Given the description of an element on the screen output the (x, y) to click on. 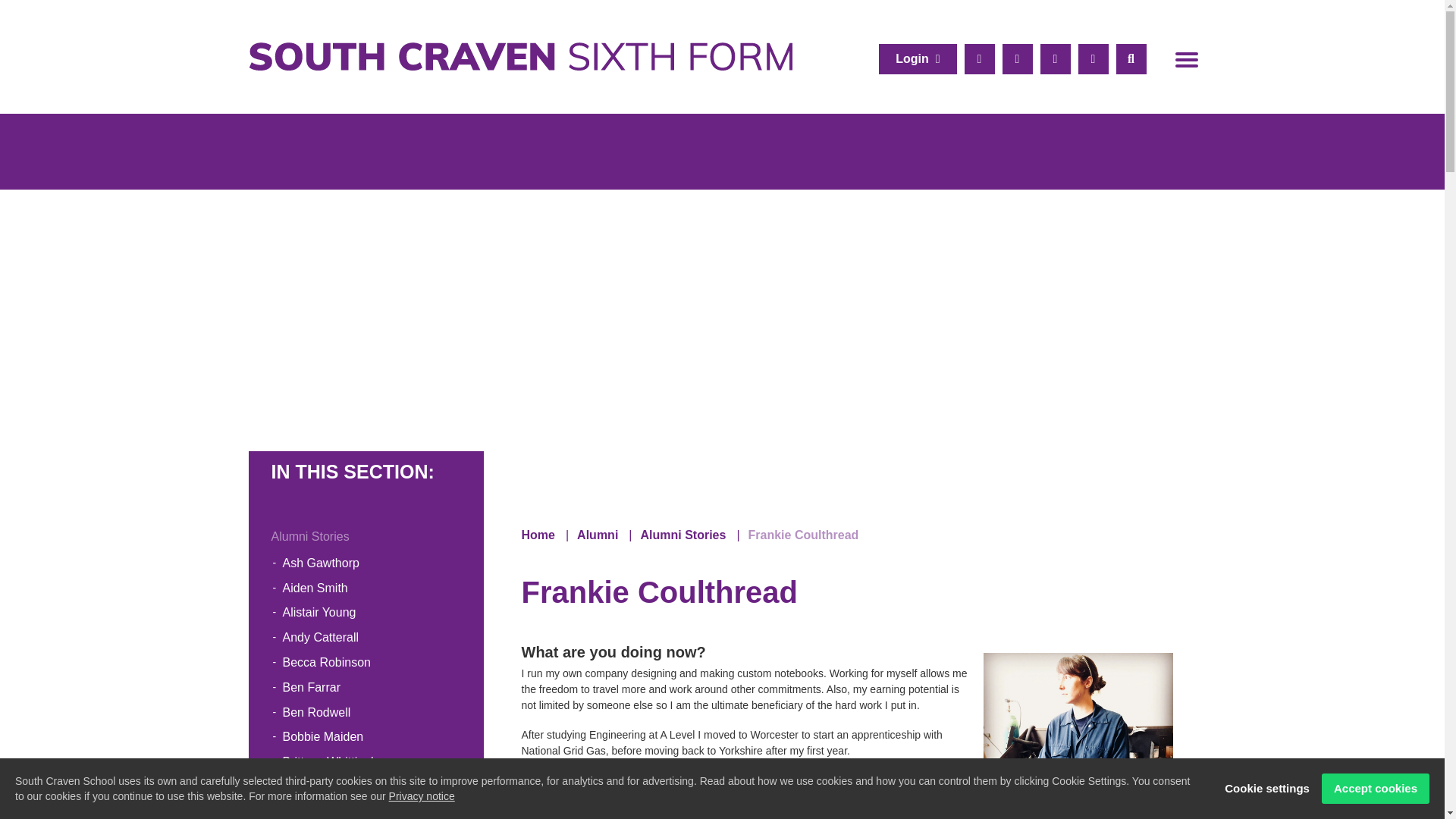
Andy Catterall (365, 637)
Chloe Butlin (365, 809)
Ash Gawthorp (365, 563)
Ben Farrar (365, 688)
Becca Robinson (365, 662)
Aiden Smith (365, 588)
Alistair Young (365, 612)
Catherine Gregory (365, 787)
Bobbie Maiden (365, 737)
Alumni Stories (365, 537)
Login   (917, 59)
Ben Rodwell (365, 713)
Brittany Whittingham (365, 762)
